Given the description of an element on the screen output the (x, y) to click on. 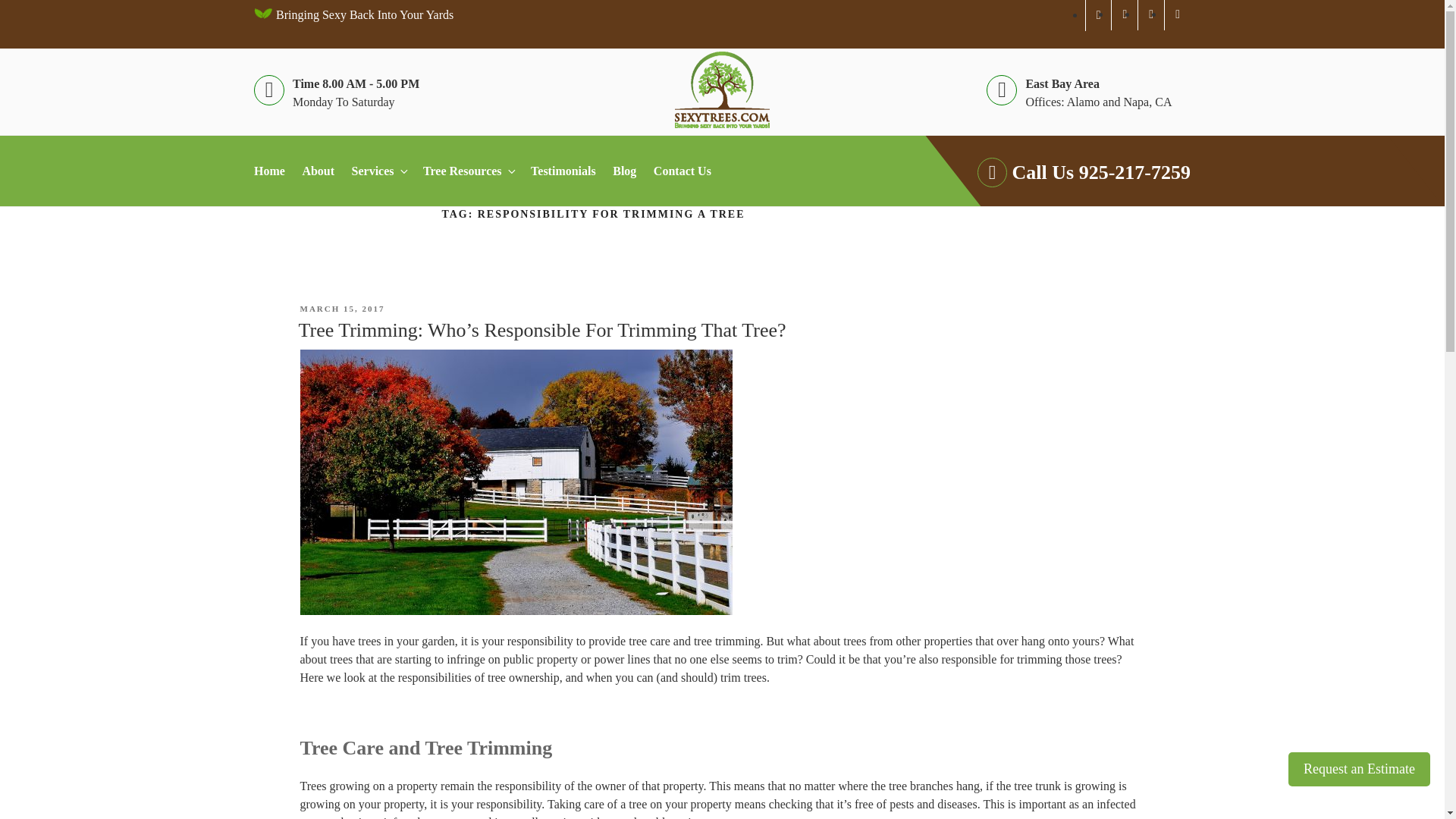
Testimonials (570, 171)
Tree Resources (475, 171)
SEXYTREES (344, 64)
Call Us 925-217-7259 (1064, 172)
Services (386, 171)
Contact Us (689, 171)
MARCH 15, 2017 (342, 307)
